Given the description of an element on the screen output the (x, y) to click on. 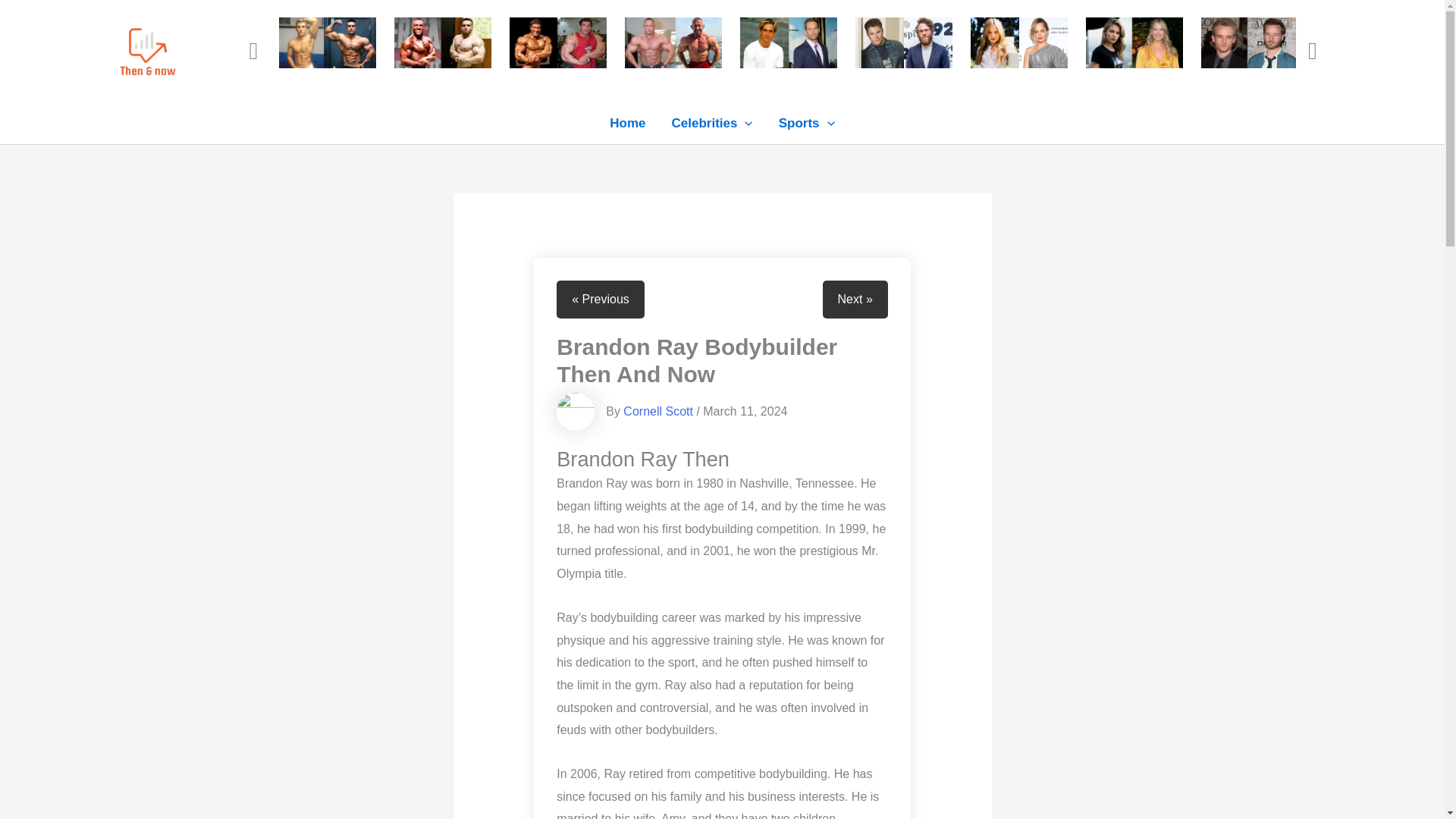
Sports (806, 123)
Posts by Cornell Scott (658, 410)
Celebrities (712, 123)
Home (627, 123)
